Given the description of an element on the screen output the (x, y) to click on. 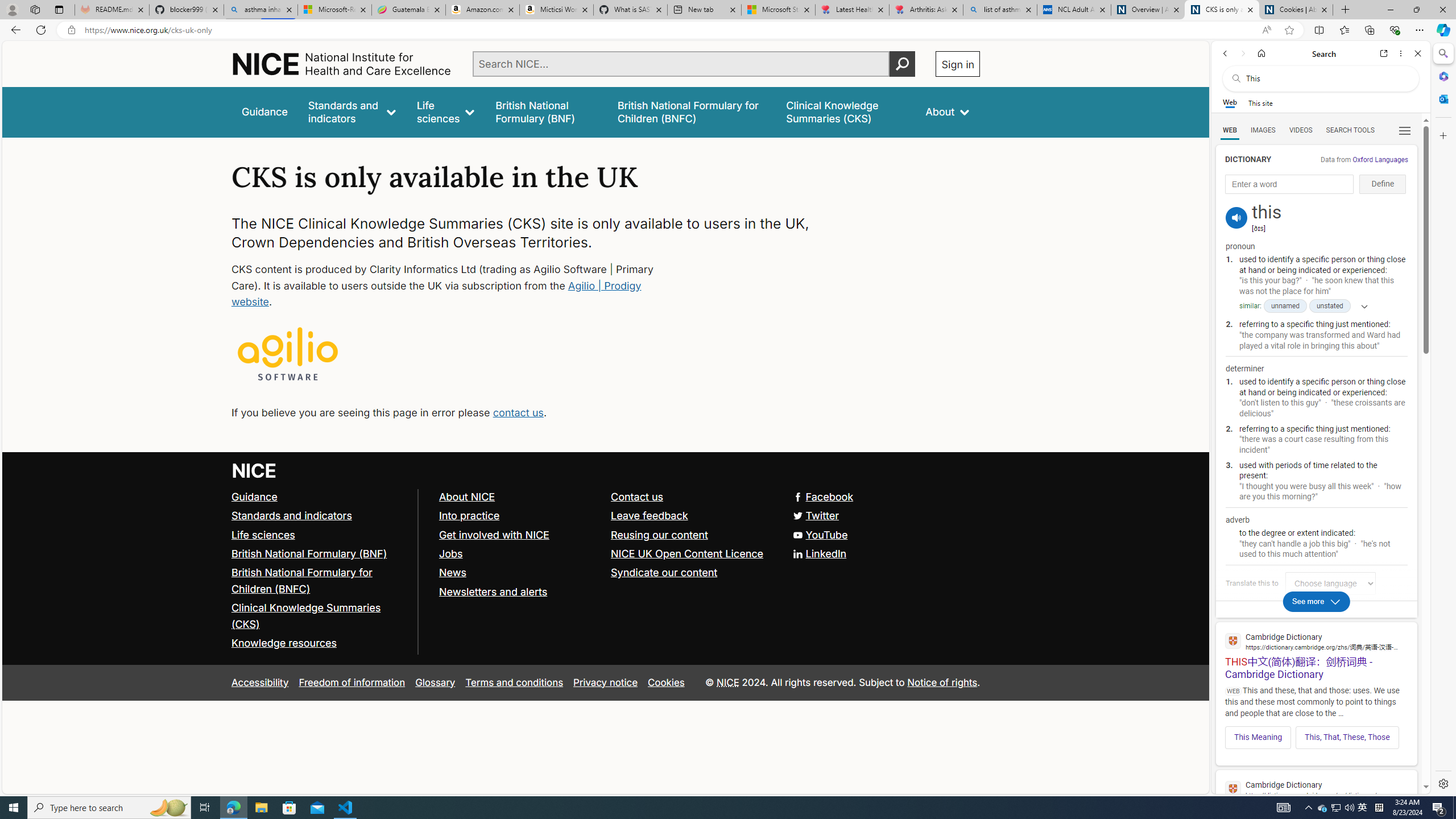
New tab (703, 9)
WEB   (1230, 130)
Enter a word (1289, 184)
Facebook (605, 496)
YouTube (820, 534)
asthma inhaler - Search (260, 9)
Knowledge resources (319, 643)
This Meaning (1257, 737)
Cookies | About | NICE (1295, 9)
Reusing our content (692, 534)
Twitter (816, 515)
